Given the description of an element on the screen output the (x, y) to click on. 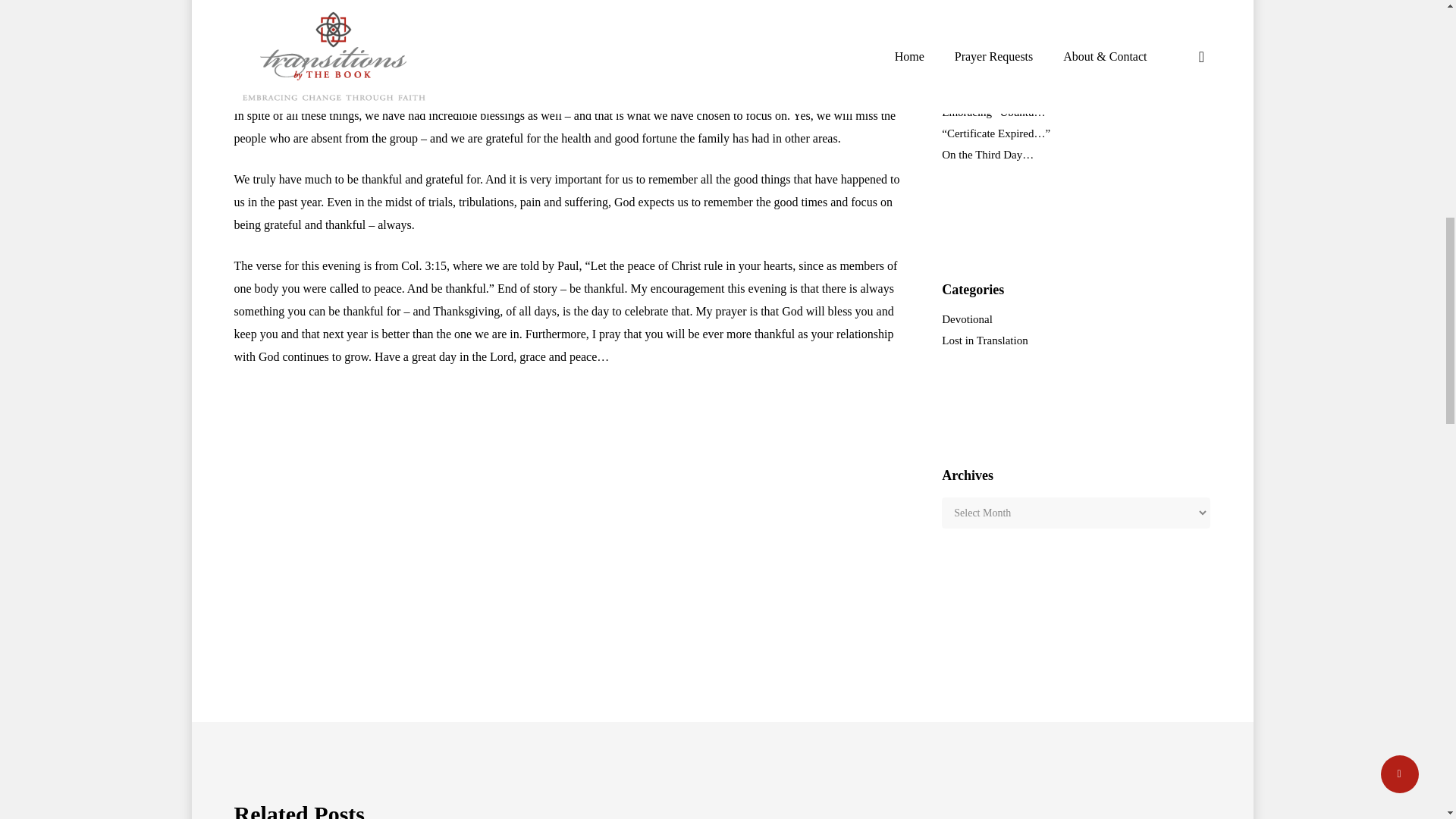
Devotional (1075, 319)
Lost in Translation (1075, 340)
